Given the description of an element on the screen output the (x, y) to click on. 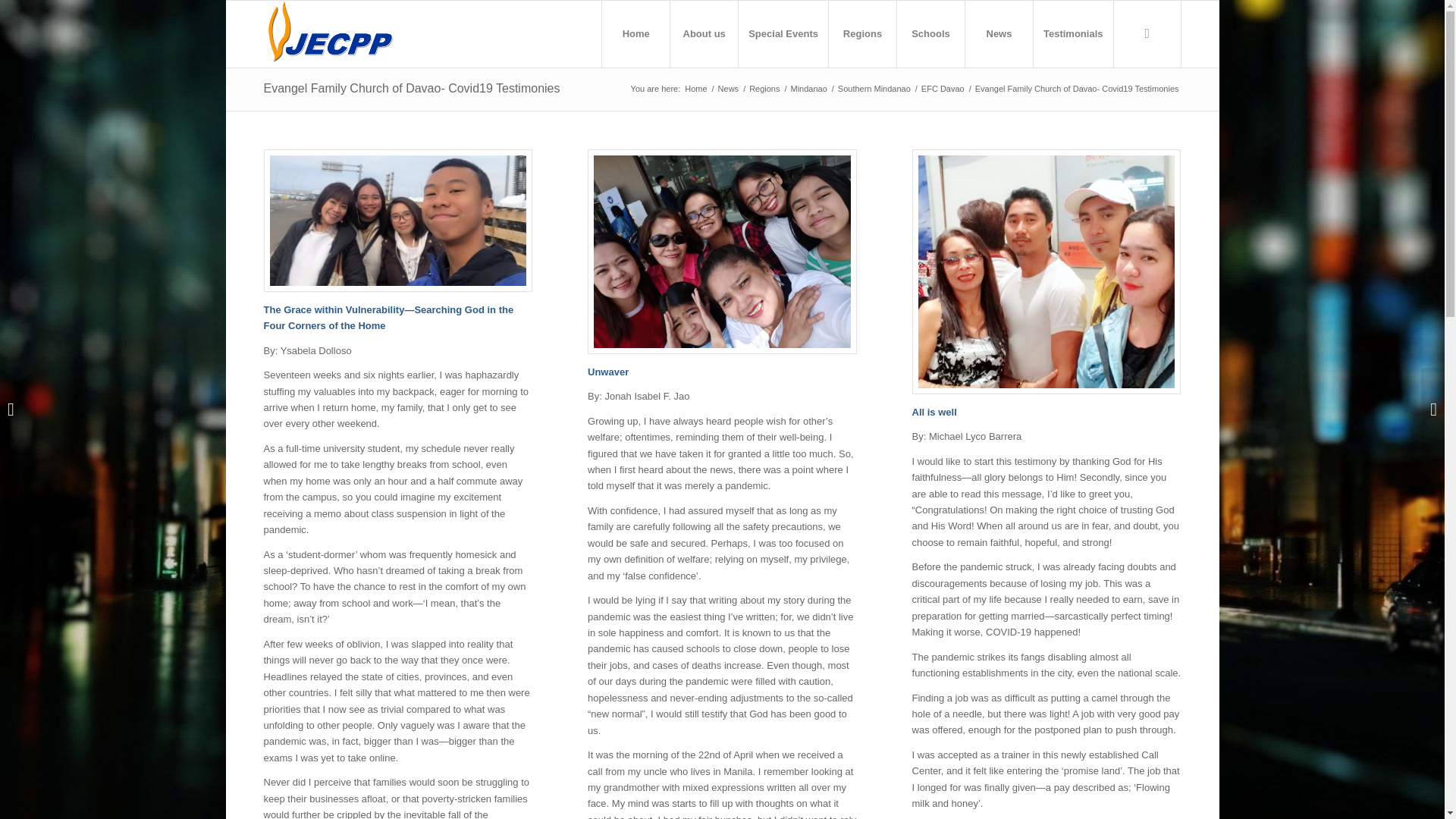
Special Events (783, 33)
JECPP (695, 89)
Logo (352, 33)
Home (635, 33)
Regions (862, 33)
About us (703, 33)
